Given the description of an element on the screen output the (x, y) to click on. 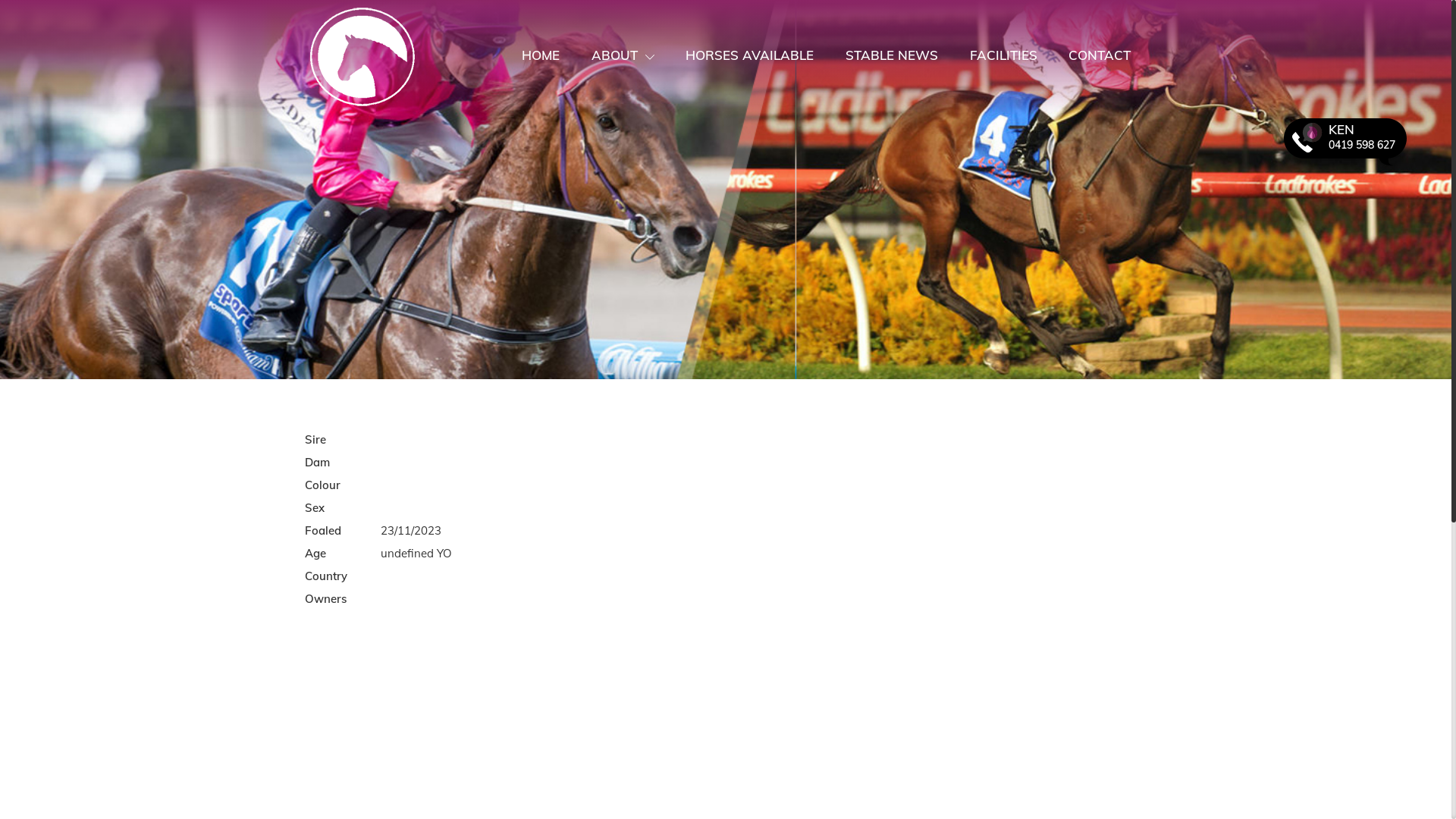
CONTACT Element type: text (1099, 58)
KEN
0419 598 627 Element type: text (1345, 143)
ABOUT Element type: text (622, 54)
HORSES AVAILABLE Element type: text (750, 58)
HOME Element type: text (540, 58)
STABLE NEWS Element type: text (891, 58)
FACILITIES Element type: text (1003, 58)
